Given the description of an element on the screen output the (x, y) to click on. 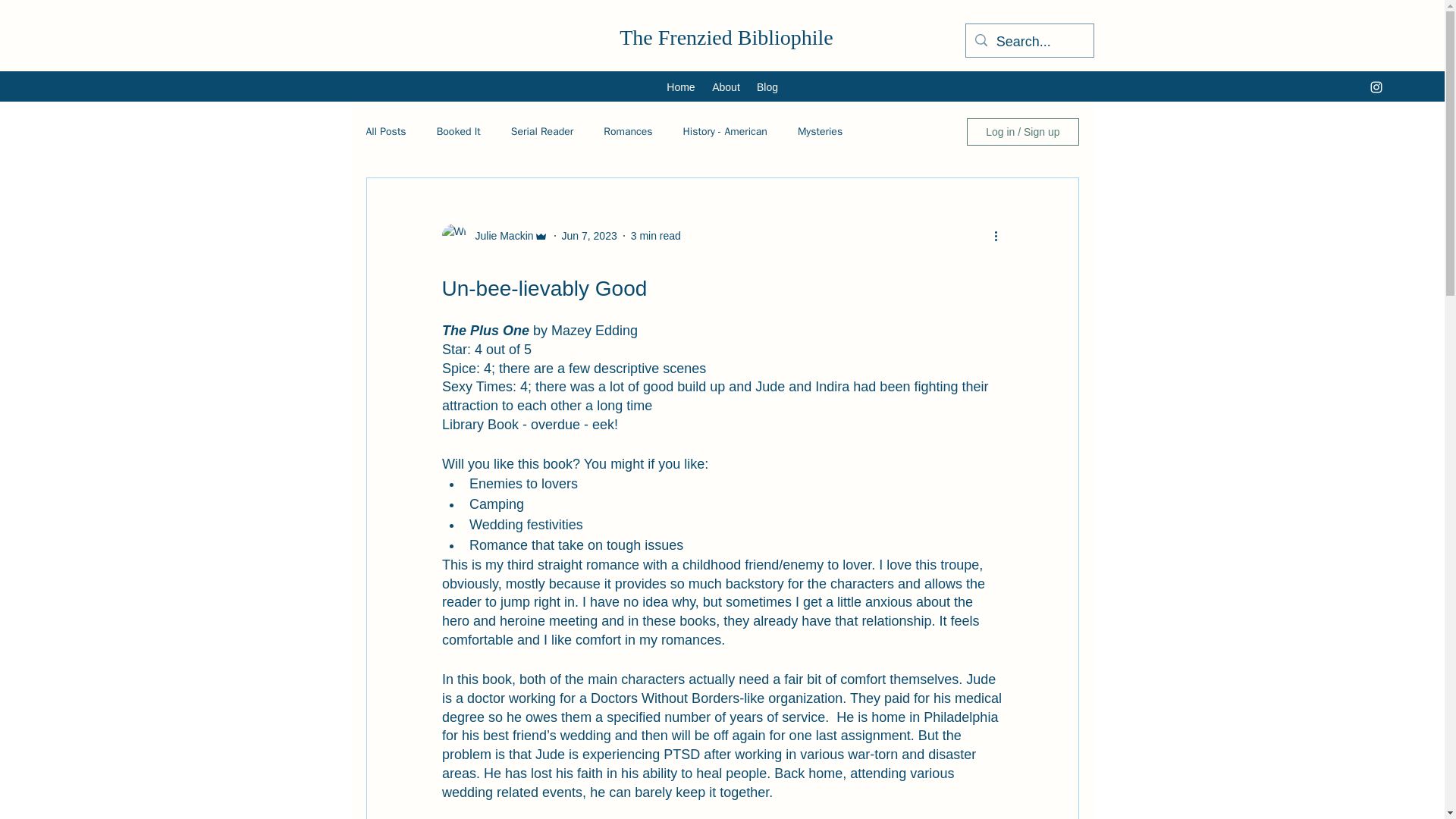
All Posts (385, 131)
Home (680, 87)
Mysteries (820, 131)
About (725, 87)
Serial Reader (542, 131)
Jun 7, 2023 (589, 234)
Julie Mackin (498, 235)
History - American (724, 131)
Romances (628, 131)
3 min read (655, 234)
